Given the description of an element on the screen output the (x, y) to click on. 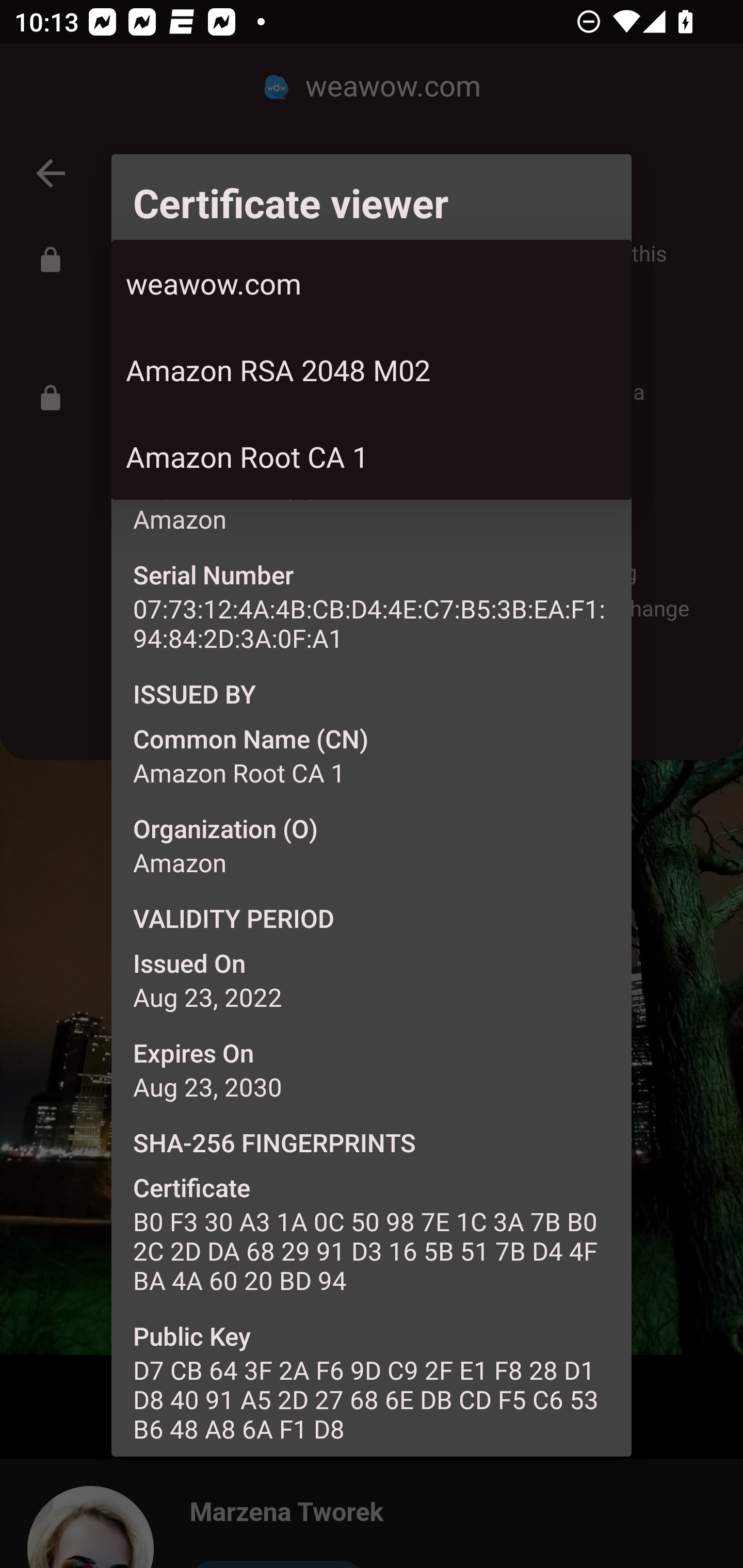
weawow.com (371, 282)
Amazon RSA 2048 M02 (371, 369)
Amazon Root CA 1 (371, 456)
